Given the description of an element on the screen output the (x, y) to click on. 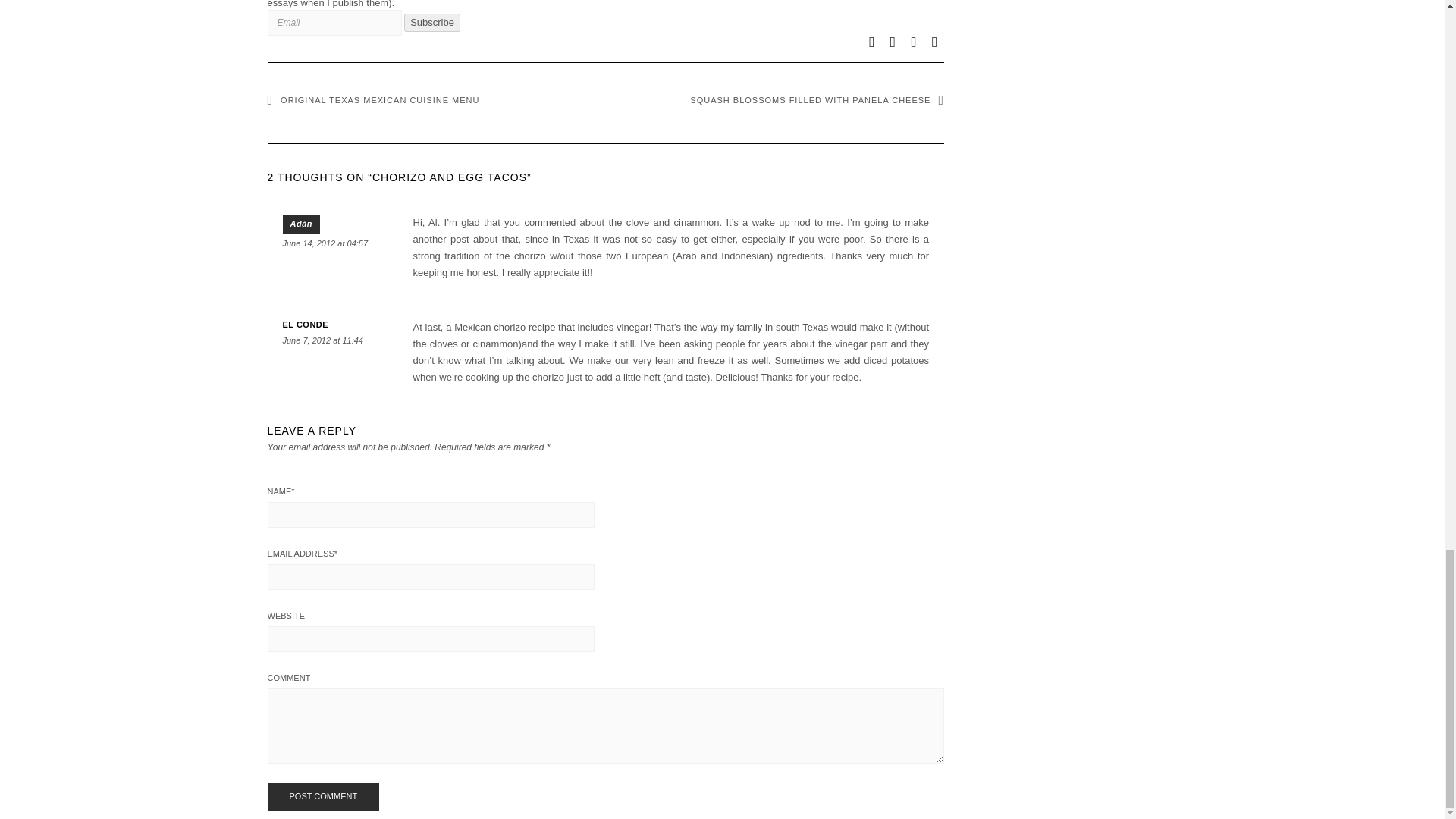
EL CONDE (305, 324)
Subscribe (432, 22)
Post Comment (322, 796)
June 14, 2012 at 04:57 (325, 243)
ORIGINAL TEXAS MEXICAN CUISINE MENU (372, 99)
Post Comment (322, 796)
Subscribe (432, 22)
SQUASH BLOSSOMS FILLED WITH PANELA CHEESE (816, 99)
June 7, 2012 at 11:44 (322, 339)
